Given the description of an element on the screen output the (x, y) to click on. 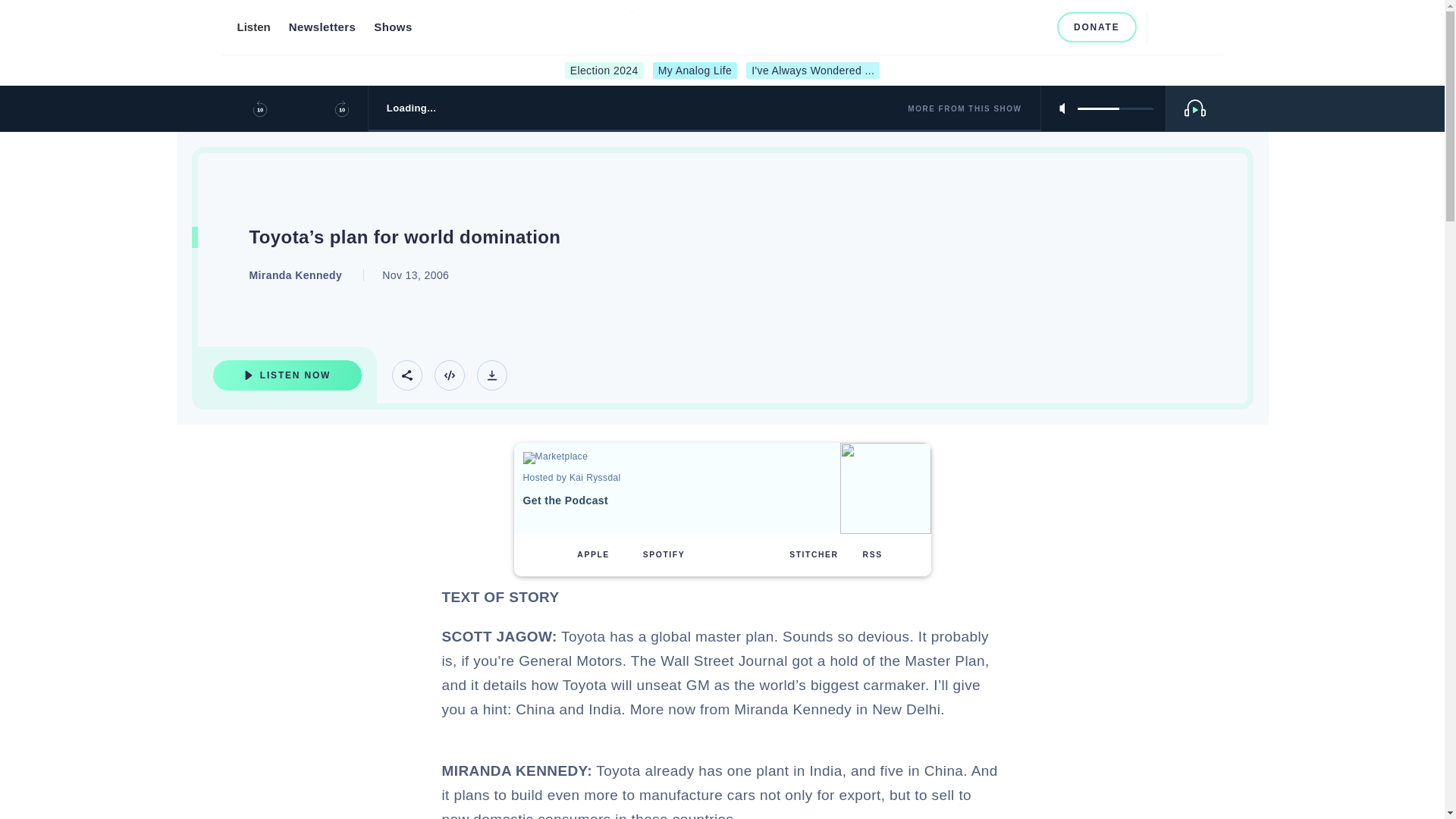
Skip 10 Seconds (341, 108)
Newsletters (322, 27)
Listen (252, 26)
Marketplace (575, 458)
Search (1164, 27)
Youtube (1011, 27)
TikTok (1035, 27)
Shows (393, 26)
Facebook (722, 70)
volume (962, 27)
Listen Now (1115, 108)
Instagram (286, 374)
Download Track (985, 27)
Menu (491, 374)
